Given the description of an element on the screen output the (x, y) to click on. 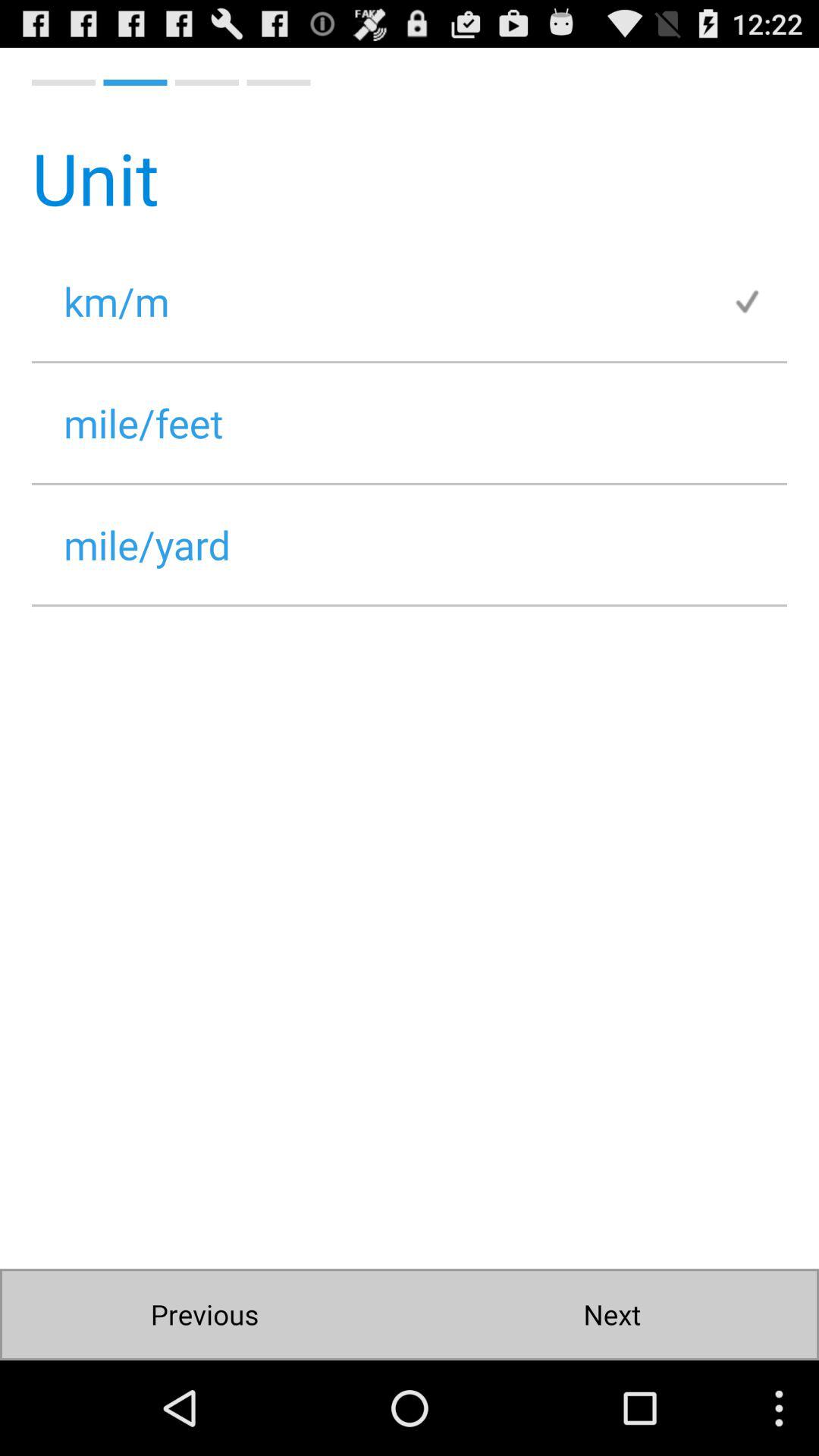
flip to the km/m icon (381, 300)
